Given the description of an element on the screen output the (x, y) to click on. 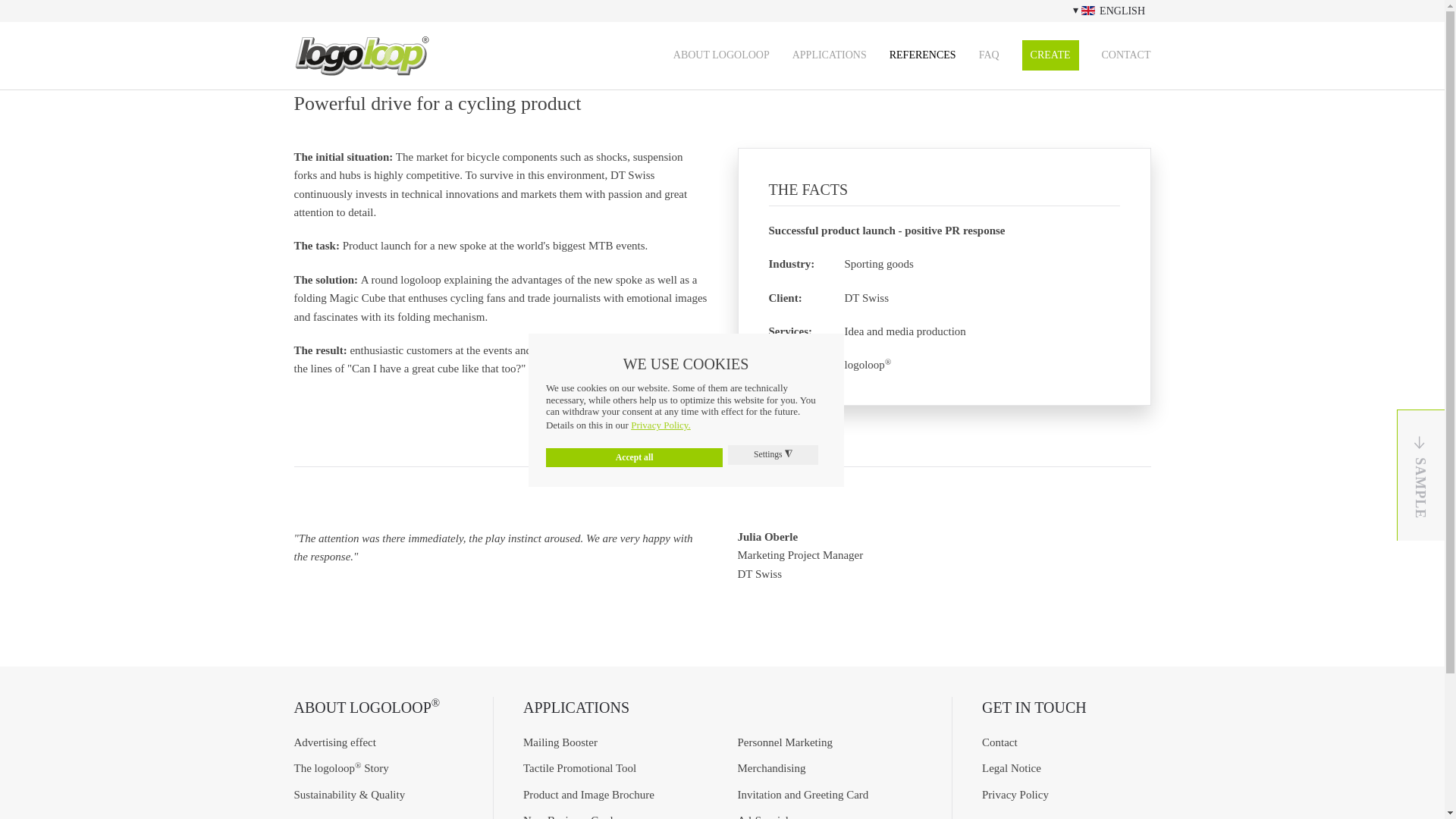
APPLICATIONS (829, 55)
ABOUT LOGOLOOP (721, 55)
ENGLISH (1109, 11)
Privacy Policy. (661, 425)
Accept all (634, 456)
